Given the description of an element on the screen output the (x, y) to click on. 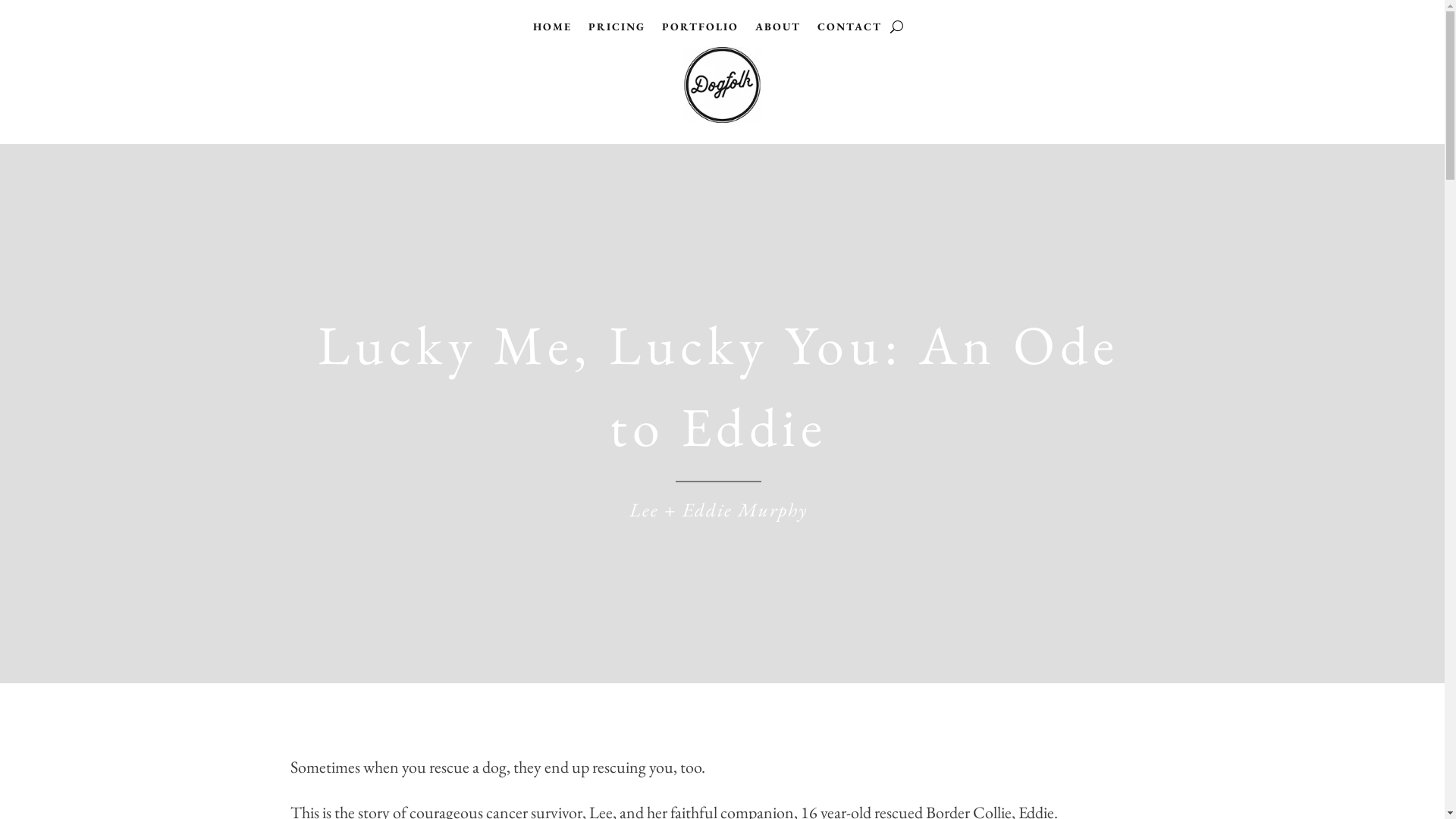
PORTFOLIO Element type: text (700, 29)
HOME Element type: text (552, 29)
PRICING Element type: text (616, 29)
ABOUT Element type: text (777, 29)
CONTACT Element type: text (849, 29)
